Given the description of an element on the screen output the (x, y) to click on. 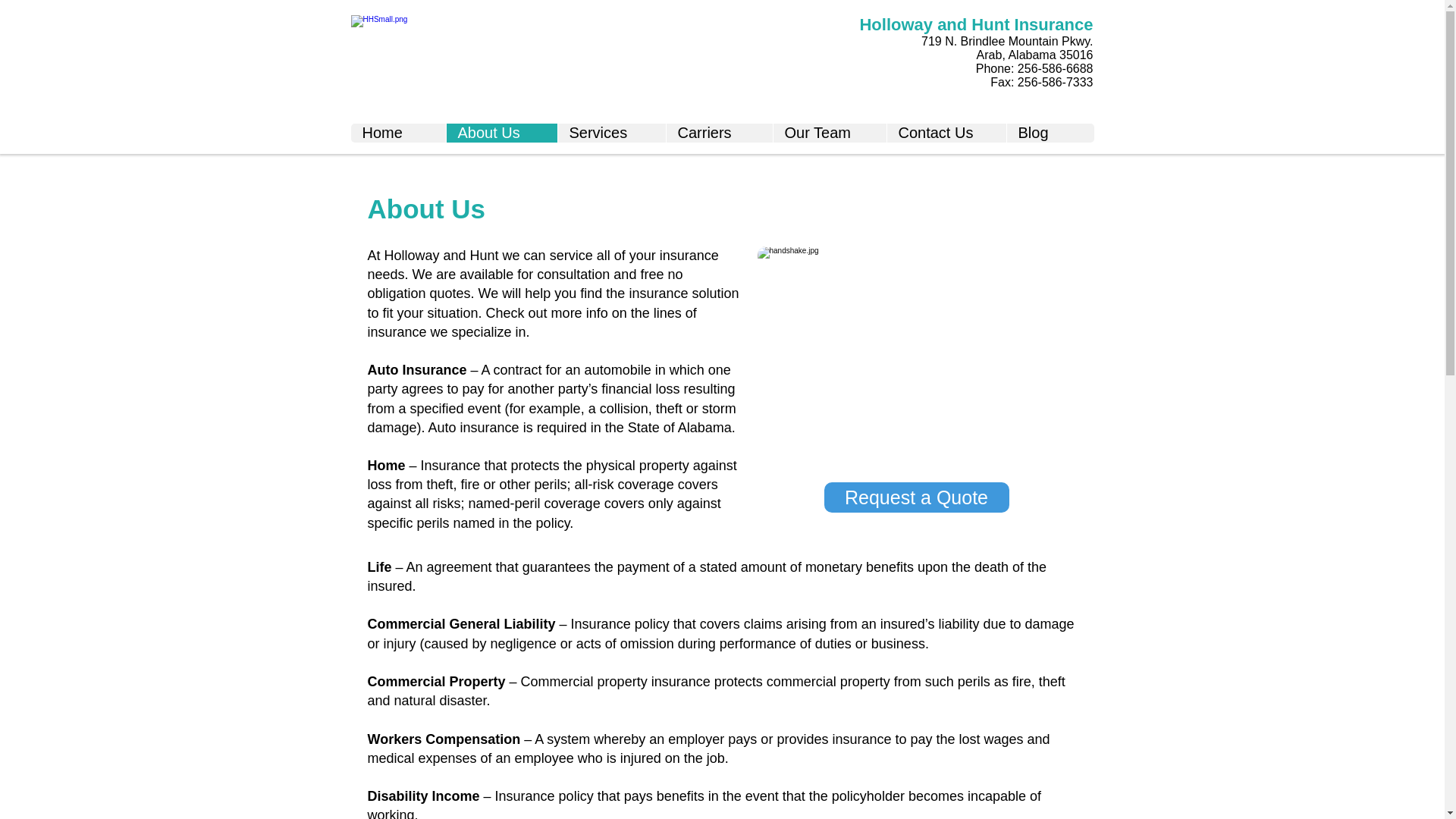
Contact Us (945, 132)
About Us (501, 132)
Carriers (719, 132)
Home (397, 132)
Our Team (828, 132)
Request a Quote (916, 497)
Services (610, 132)
Blog (1049, 132)
